Given the description of an element on the screen output the (x, y) to click on. 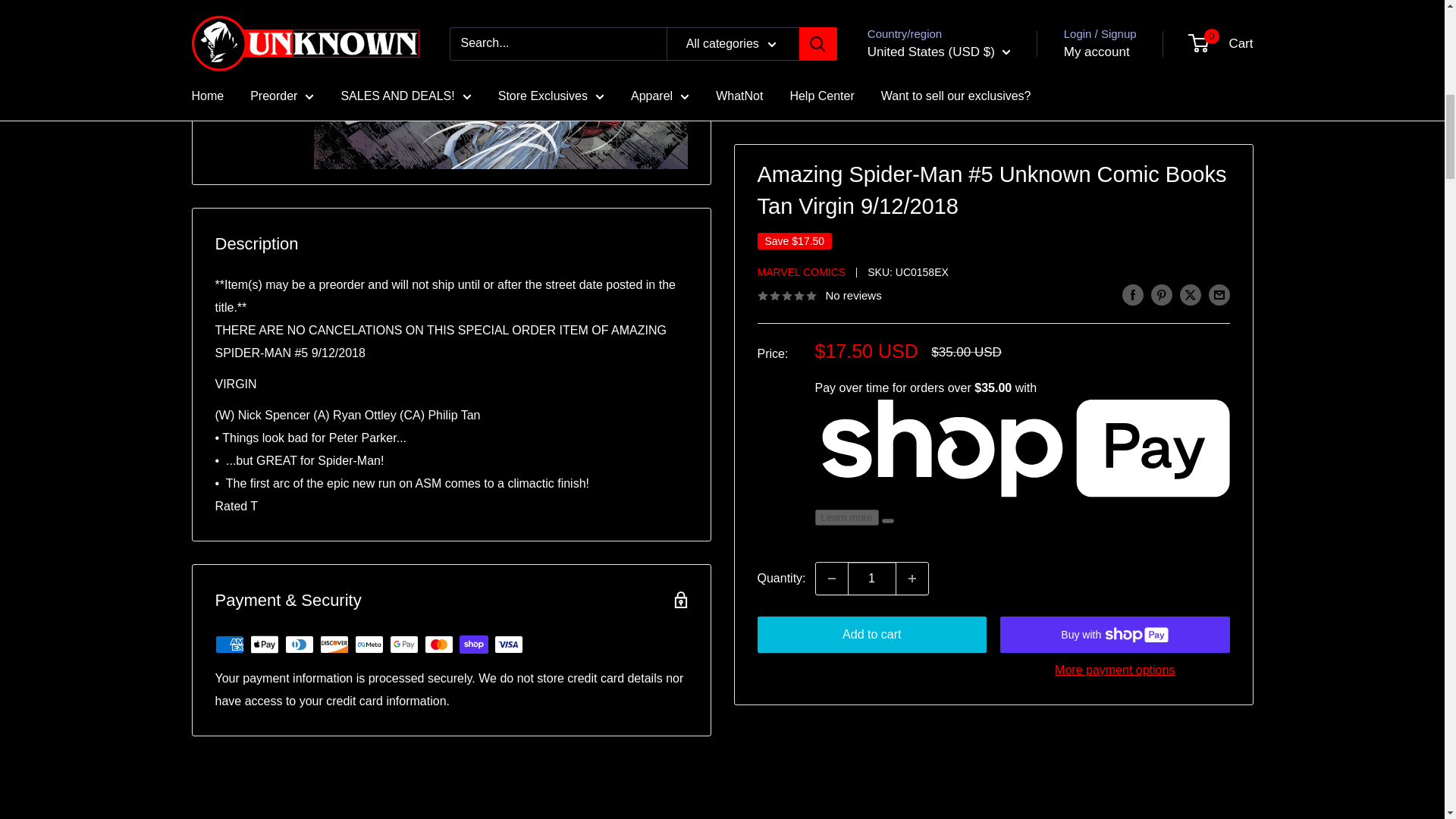
Decrease quantity by 1 (831, 10)
Increase quantity by 1 (912, 10)
1 (871, 10)
